Given the description of an element on the screen output the (x, y) to click on. 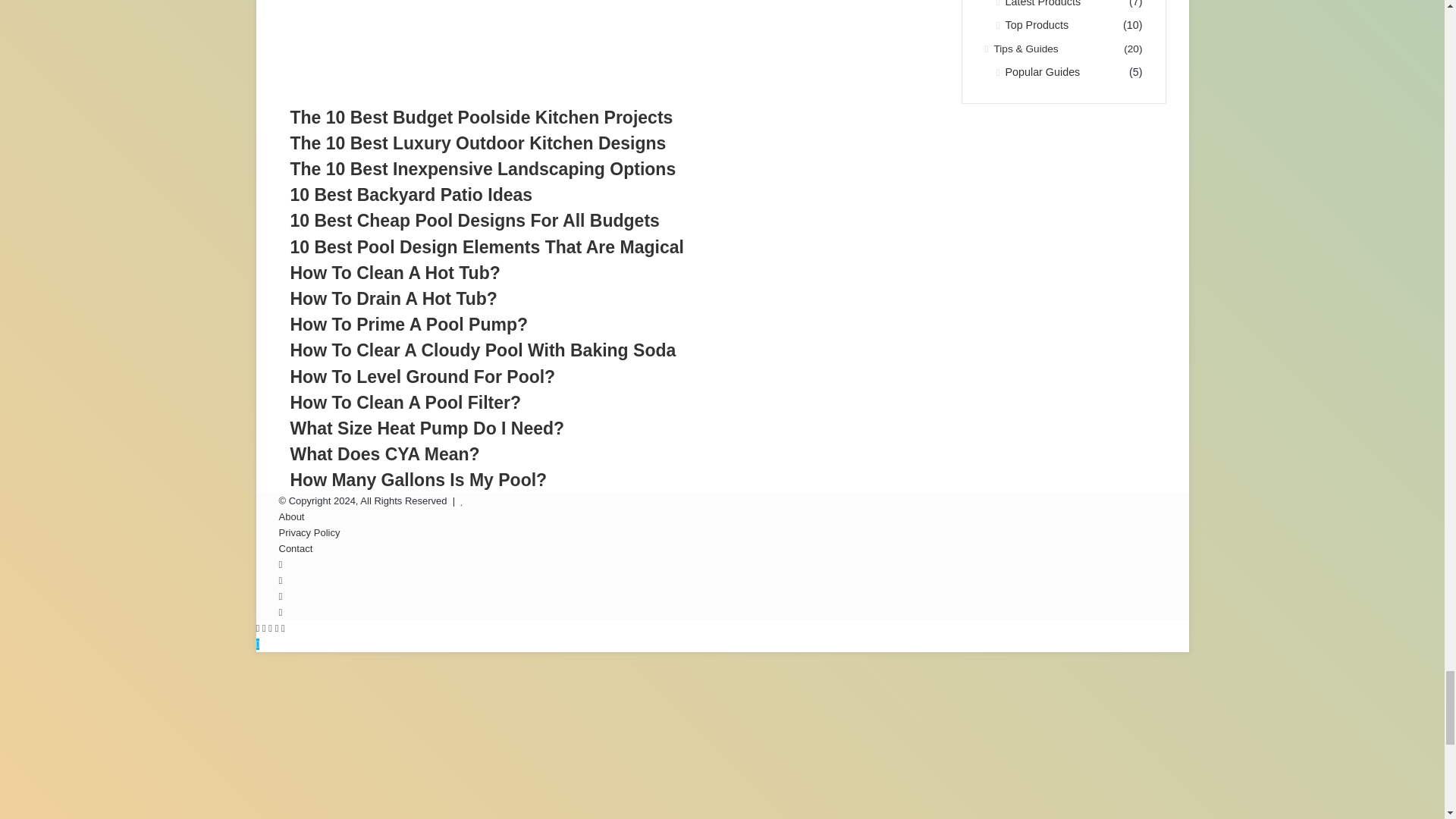
The 10 Best Inexpensive Landscaping Options (482, 168)
The 10 Best Luxury Outdoor Kitchen Designs (477, 143)
The 10 Best Budget Poolside Kitchen Projects (480, 117)
